Given the description of an element on the screen output the (x, y) to click on. 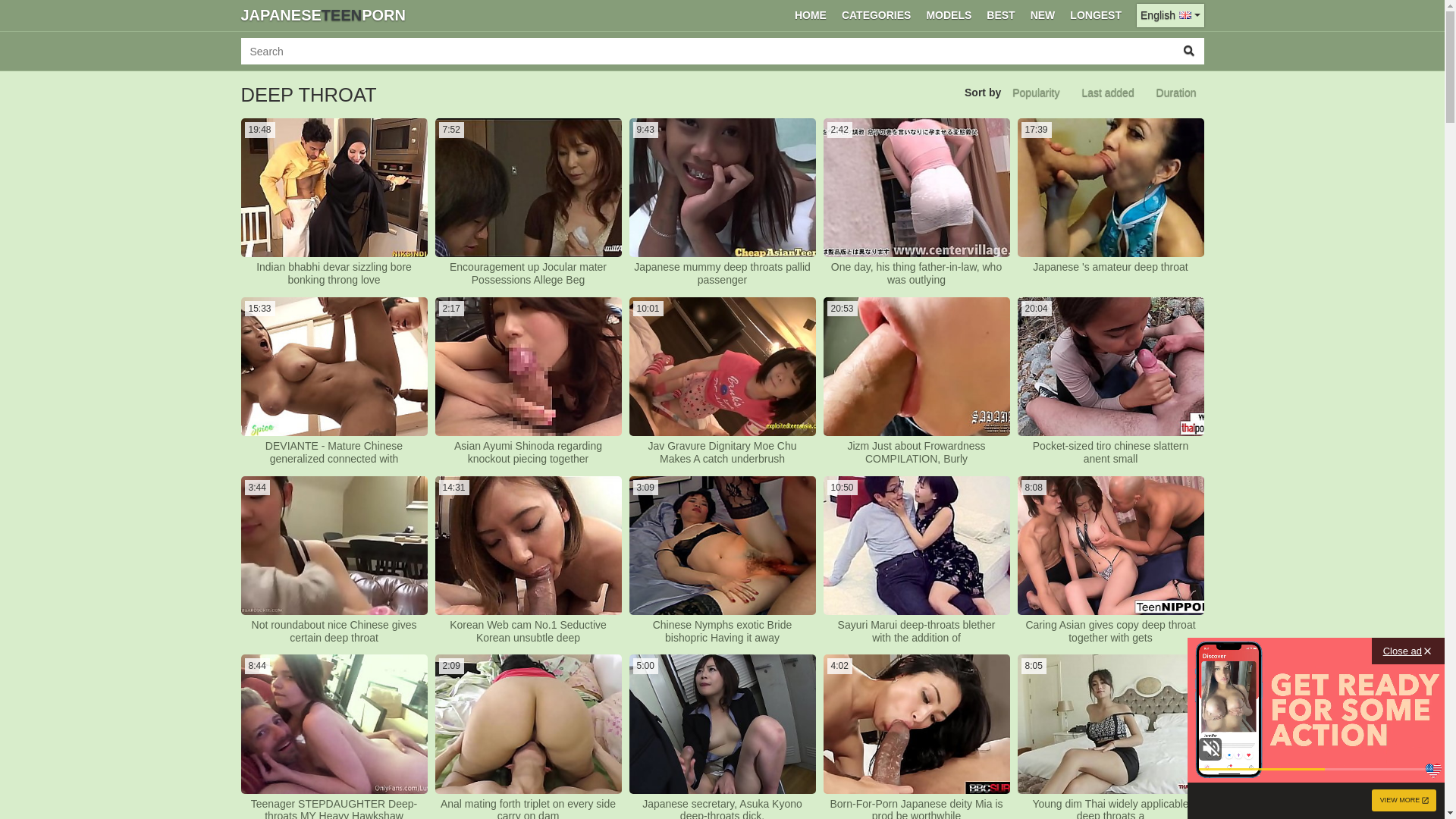
LONGEST Element type: text (1095, 15)
Not roundabout nice Chinese gives certain deep throat Element type: text (333, 631)
Indian bhabhi devar sizzling bore bonking throng love Element type: text (333, 273)
Caring Asian gives copy deep throat together with gets Element type: text (1109, 631)
CATEGORIES Element type: text (876, 15)
Korean Web cam No.1 Seductive Korean unsubtle deep Element type: text (527, 631)
Jizm Just about Frowardness COMPILATION, Burly Element type: text (915, 452)
For searching please use latin letters Element type: hover (707, 50)
Pocket-sized tiro chinese slattern anent small Element type: text (1109, 452)
BEST Element type: text (1000, 15)
HOME Element type: text (810, 15)
DEVIANTE - Mature Chinese generalized connected with Element type: text (333, 452)
Encouragement up Jocular mater Possessions Allege Beg Element type: text (527, 273)
MODELS Element type: text (948, 15)
JAPANESETEENPORN Element type: text (323, 15)
Search Element type: text (1188, 50)
Chinese Nymphs exotic Bride bishopric Having it away Element type: text (721, 631)
Duration Element type: text (1176, 92)
Popularity Element type: text (1035, 92)
Last added Element type: text (1107, 92)
NEW Element type: text (1042, 15)
English Element type: text (1169, 15)
Jav Gravure Dignitary Moe Chu Makes A catch underbrush Element type: text (721, 452)
Sayuri Marui deep-throats blether with the addition of Element type: text (915, 631)
One day, his thing father-in-law, who was outlying Element type: text (915, 273)
Japanese mummy deep throats pallid passenger Element type: text (721, 273)
Asian Ayumi Shinoda regarding knockout piecing together Element type: text (527, 452)
Japanese 's amateur deep throat Element type: text (1109, 266)
